Given the description of an element on the screen output the (x, y) to click on. 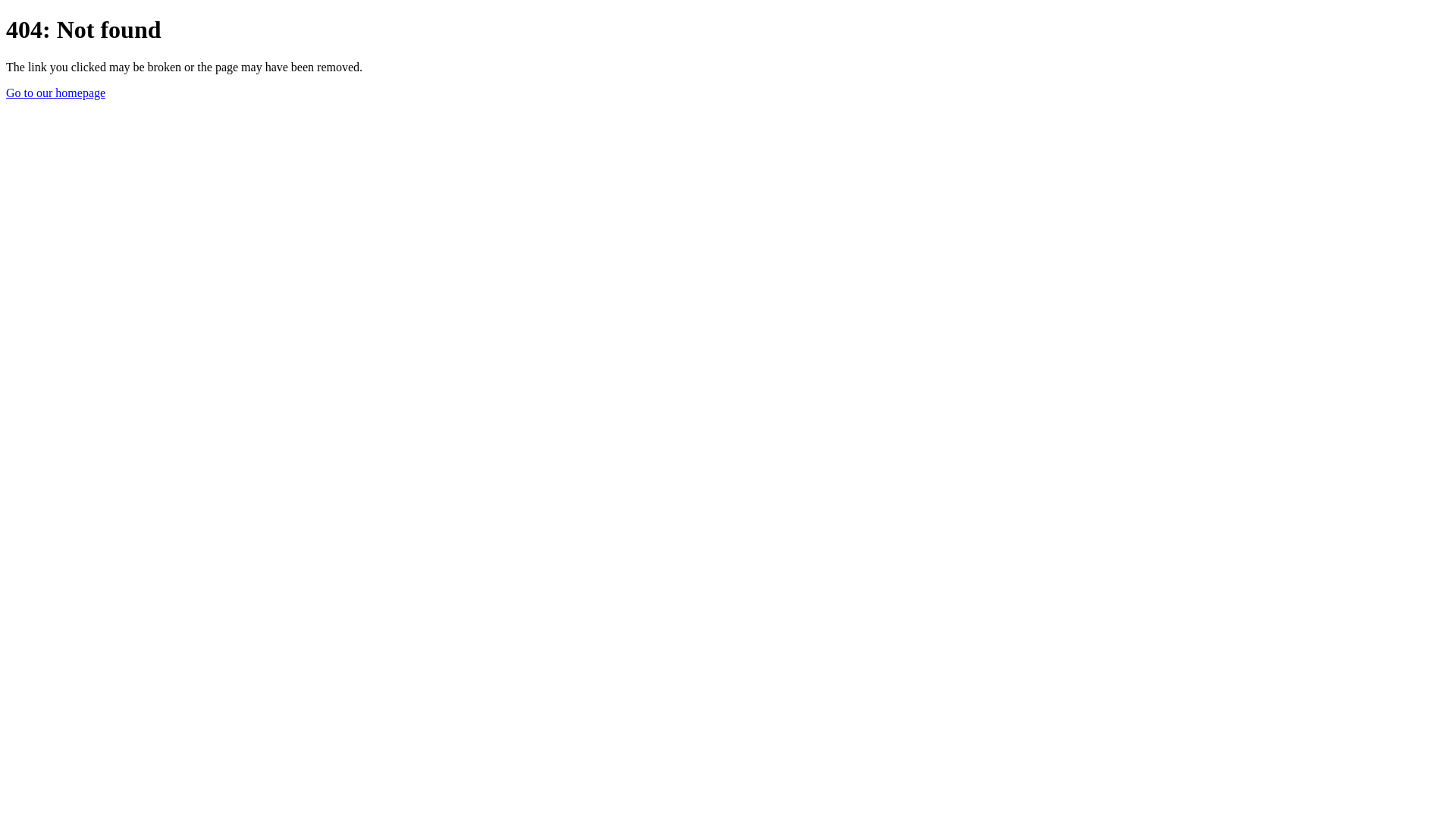
Go to our homepage Element type: text (55, 92)
